Given the description of an element on the screen output the (x, y) to click on. 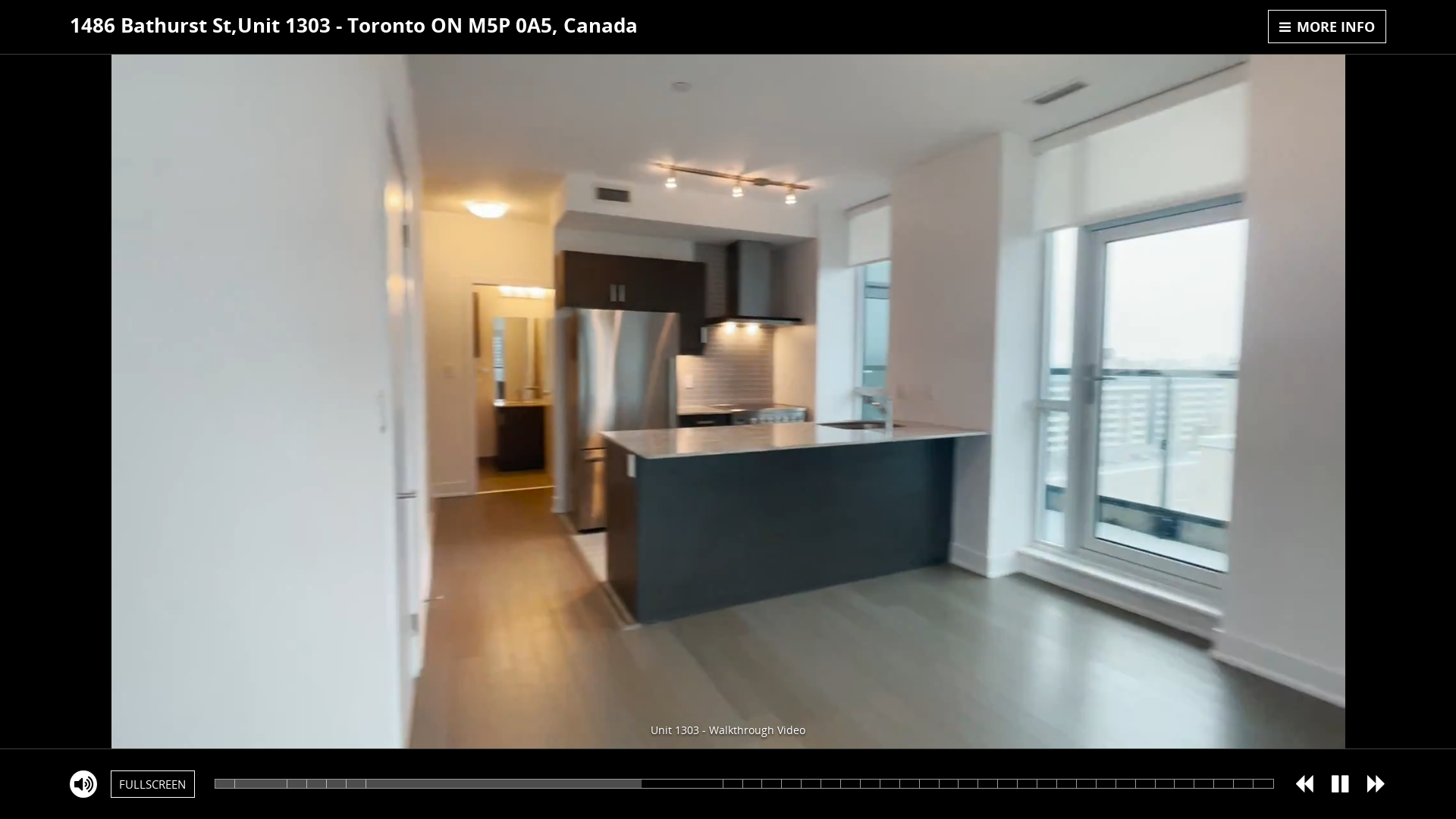
MORE INFO Element type: text (1326, 26)
